Given the description of an element on the screen output the (x, y) to click on. 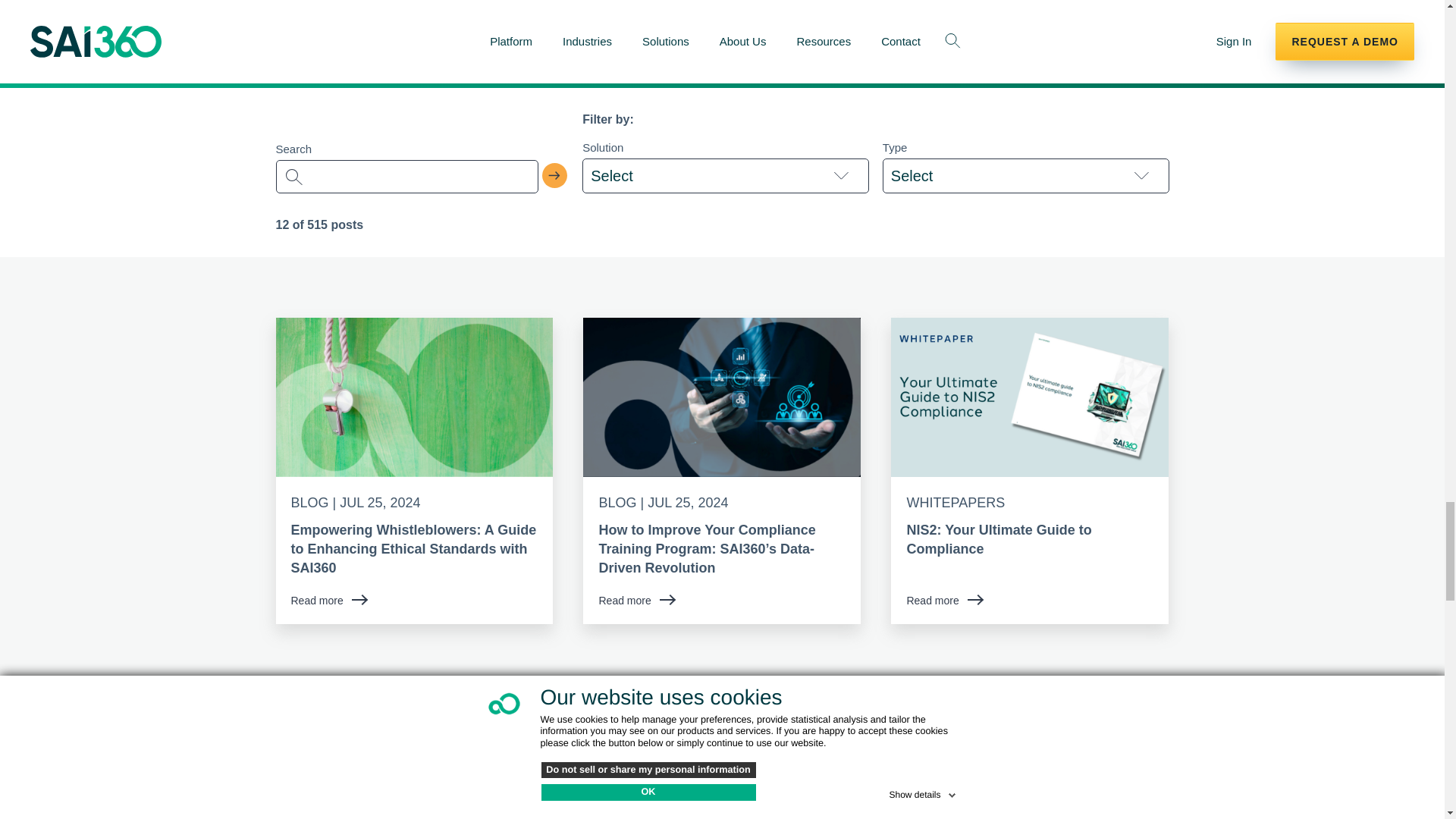
Search (555, 175)
